Given the description of an element on the screen output the (x, y) to click on. 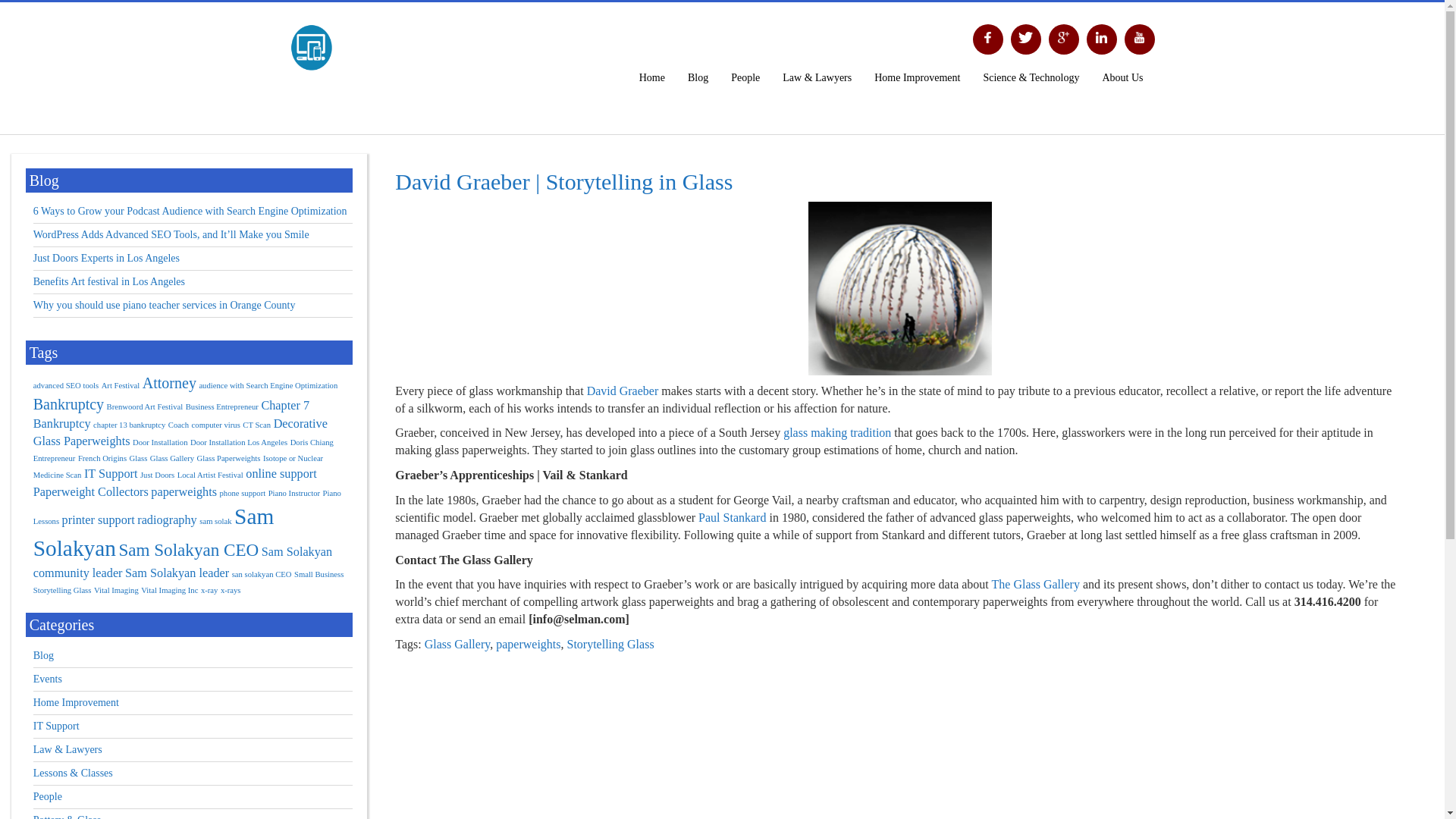
glass making tradition (837, 431)
The Glass Gallery (1035, 584)
David Graeber (622, 390)
Blog (698, 77)
Storytelling Glass (610, 644)
Just Doors Experts in Los Angeles (106, 257)
Home (652, 77)
Home Improvement (917, 77)
Why you should use piano teacher services in Orange County (164, 305)
Benefits Art festival in Los Angeles (108, 281)
Art Festival (120, 385)
People (745, 77)
paperweights (528, 644)
advanced SEO tools (66, 385)
